Given the description of an element on the screen output the (x, y) to click on. 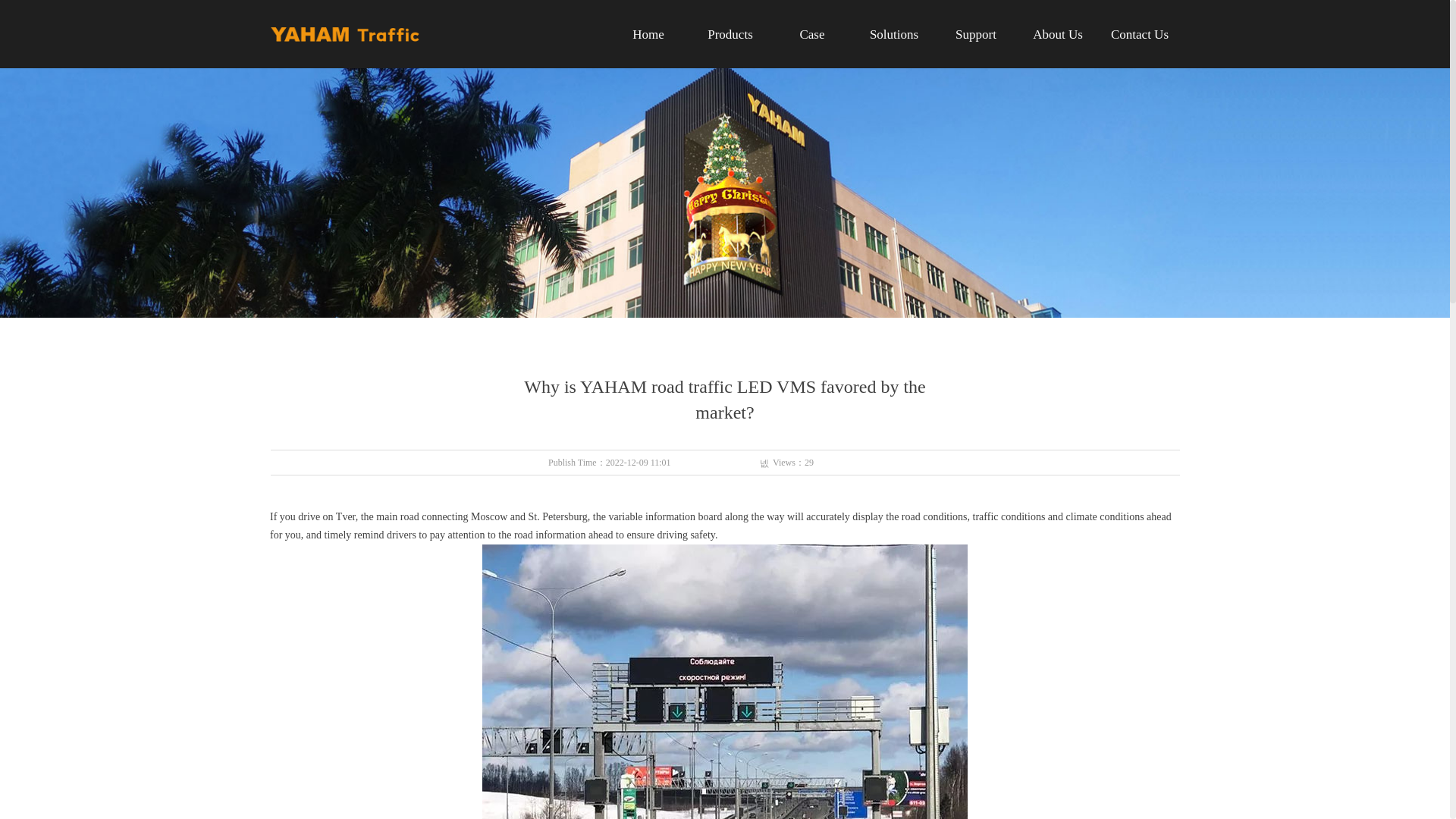
Products (729, 34)
Contact Us (1139, 34)
About Us (1057, 34)
Case (812, 34)
Solutions (893, 34)
Home (647, 34)
Support (975, 34)
